Given the description of an element on the screen output the (x, y) to click on. 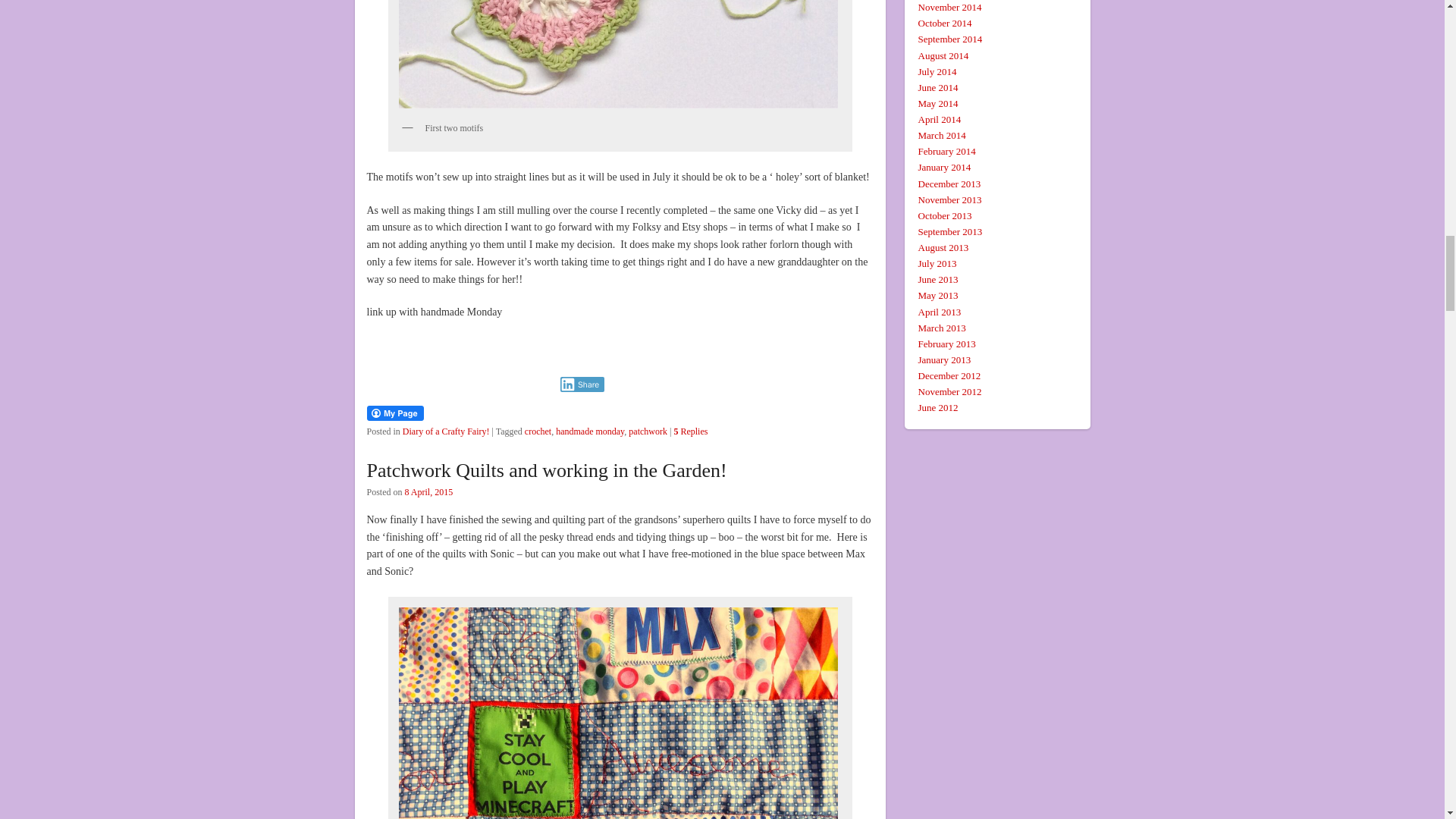
1:43 am (428, 491)
